Given the description of an element on the screen output the (x, y) to click on. 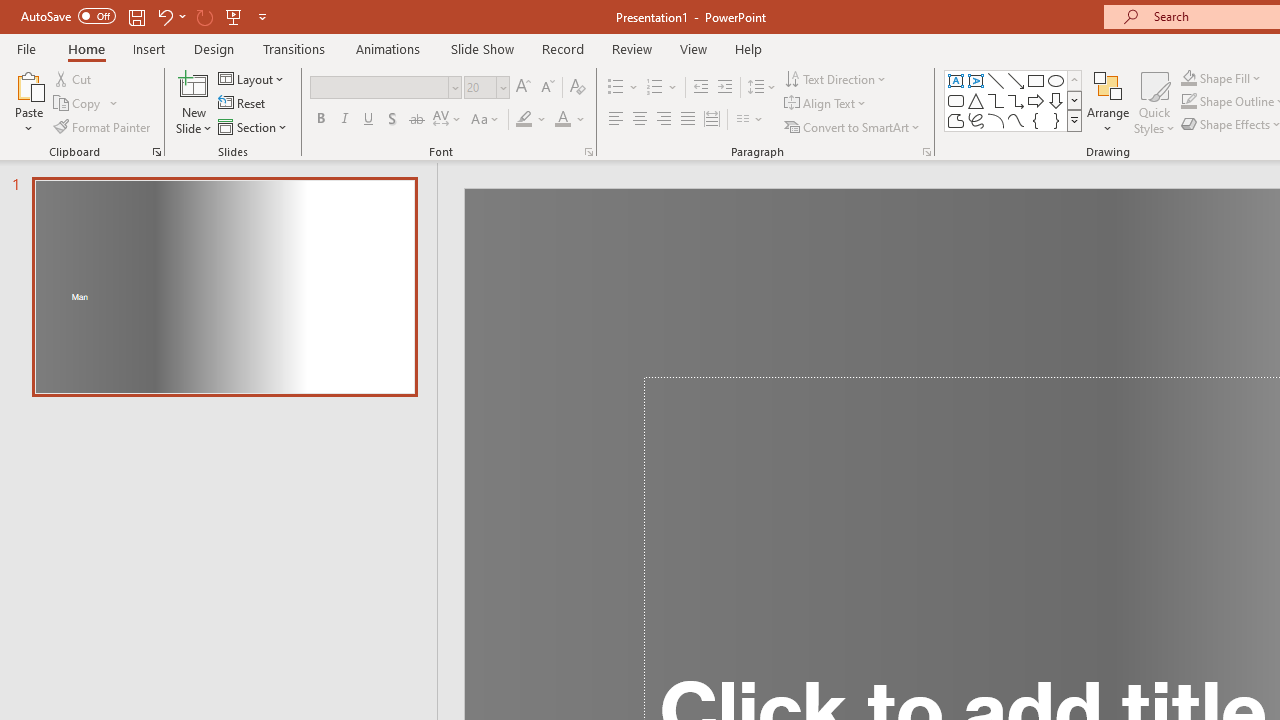
Curve (1016, 120)
Connector: Elbow Arrow (1016, 100)
Font Color Red (562, 119)
Change Case (486, 119)
Record (562, 48)
Character Spacing (447, 119)
Design (214, 48)
Bullets (616, 87)
Shape Outline Blue, Accent 1 (1188, 101)
Convert to SmartArt (853, 126)
AutomationID: ShapesInsertGallery (1014, 100)
Align Left (616, 119)
Font Color (569, 119)
Decrease Font Size (547, 87)
Italic (344, 119)
